Given the description of an element on the screen output the (x, y) to click on. 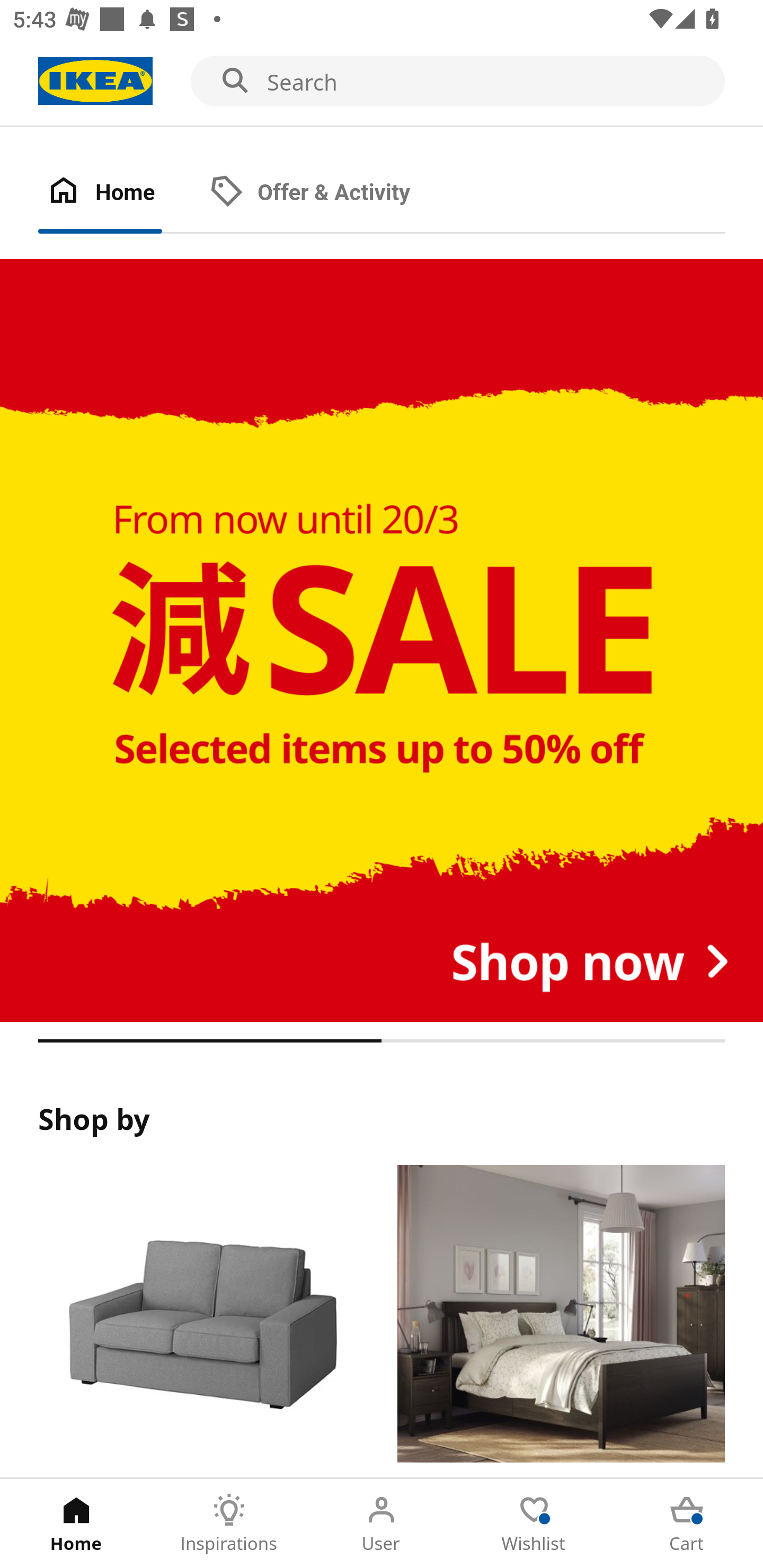
Search (381, 81)
Home
Tab 1 of 2 (118, 192)
Offer & Activity
Tab 2 of 2 (327, 192)
Products (201, 1321)
Rooms (560, 1321)
Home
Tab 1 of 5 (76, 1522)
Inspirations
Tab 2 of 5 (228, 1522)
User
Tab 3 of 5 (381, 1522)
Wishlist
Tab 4 of 5 (533, 1522)
Cart
Tab 5 of 5 (686, 1522)
